Given the description of an element on the screen output the (x, y) to click on. 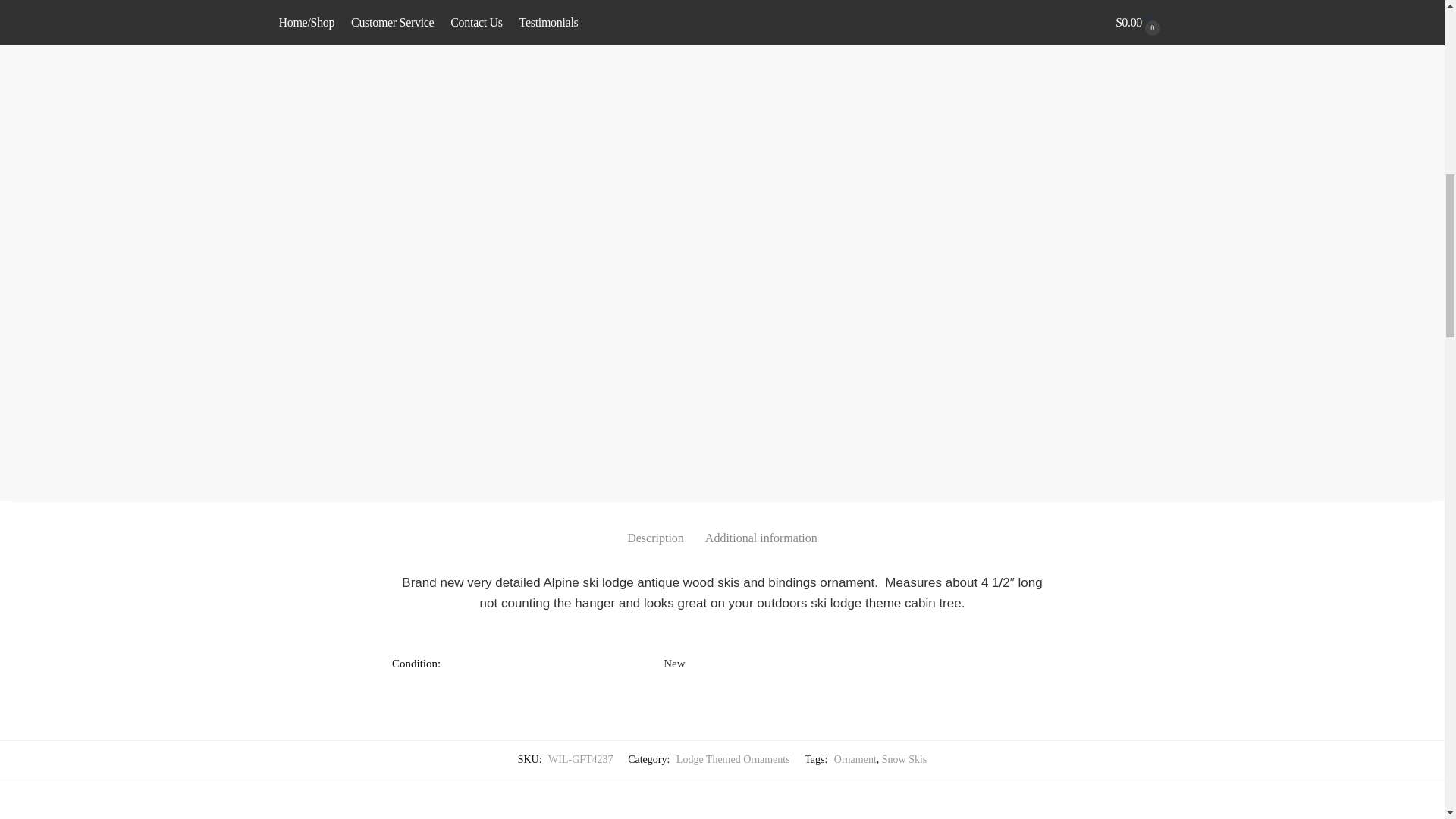
Additional information (760, 525)
Ornament (855, 758)
Snow Skis (904, 758)
Lodge Themed Ornaments (733, 758)
Description (655, 525)
